Given the description of an element on the screen output the (x, y) to click on. 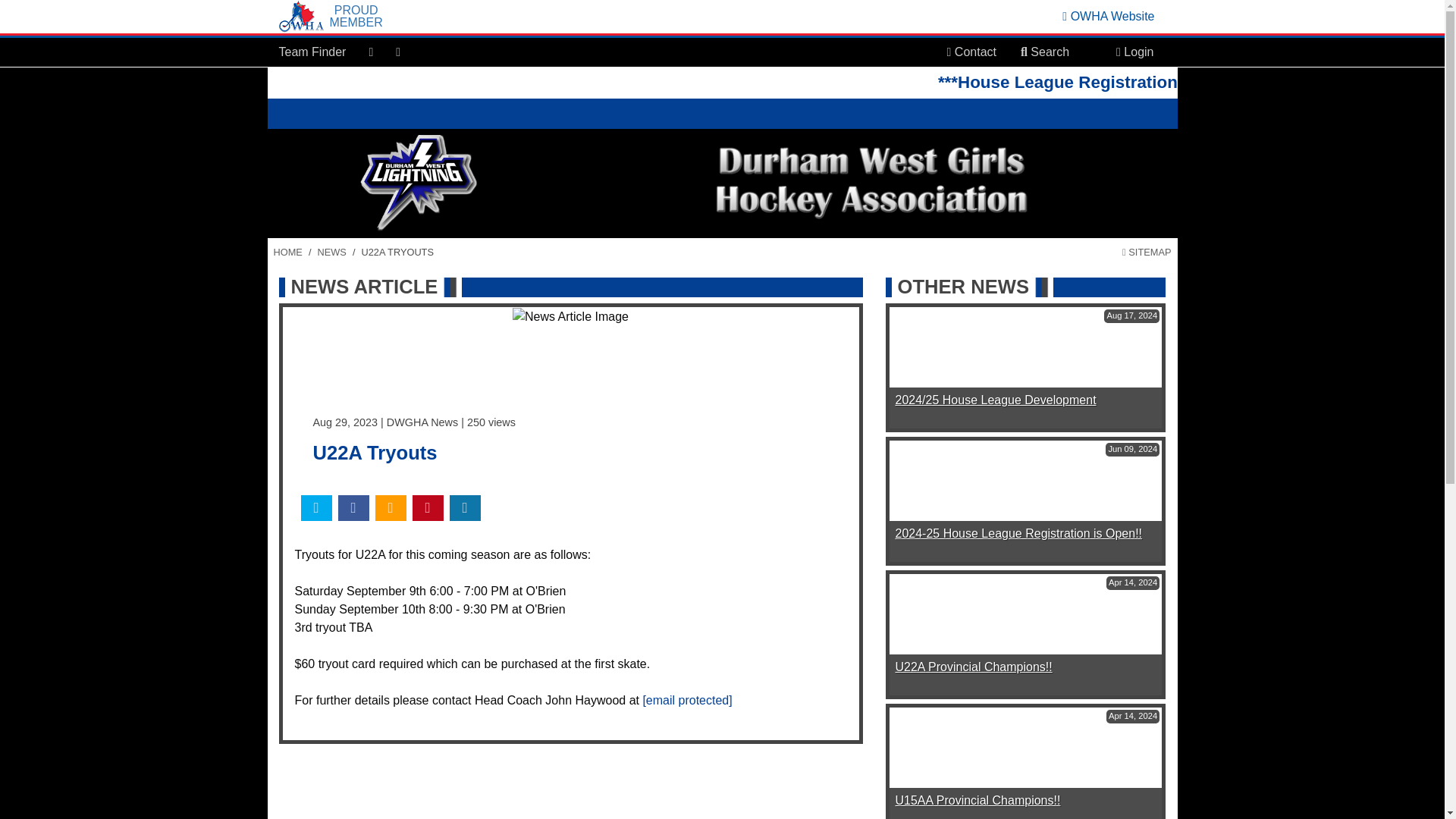
Ontario Women's Hockey Association (1108, 16)
read more of this item (1018, 533)
read more of this item (977, 799)
Team Finder (312, 51)
 Search (1045, 51)
 Login (1134, 51)
read more of this item (995, 399)
 Contact (971, 51)
Go to the sitemap page for this website (1146, 252)
Main Home Page (287, 252)
